Given the description of an element on the screen output the (x, y) to click on. 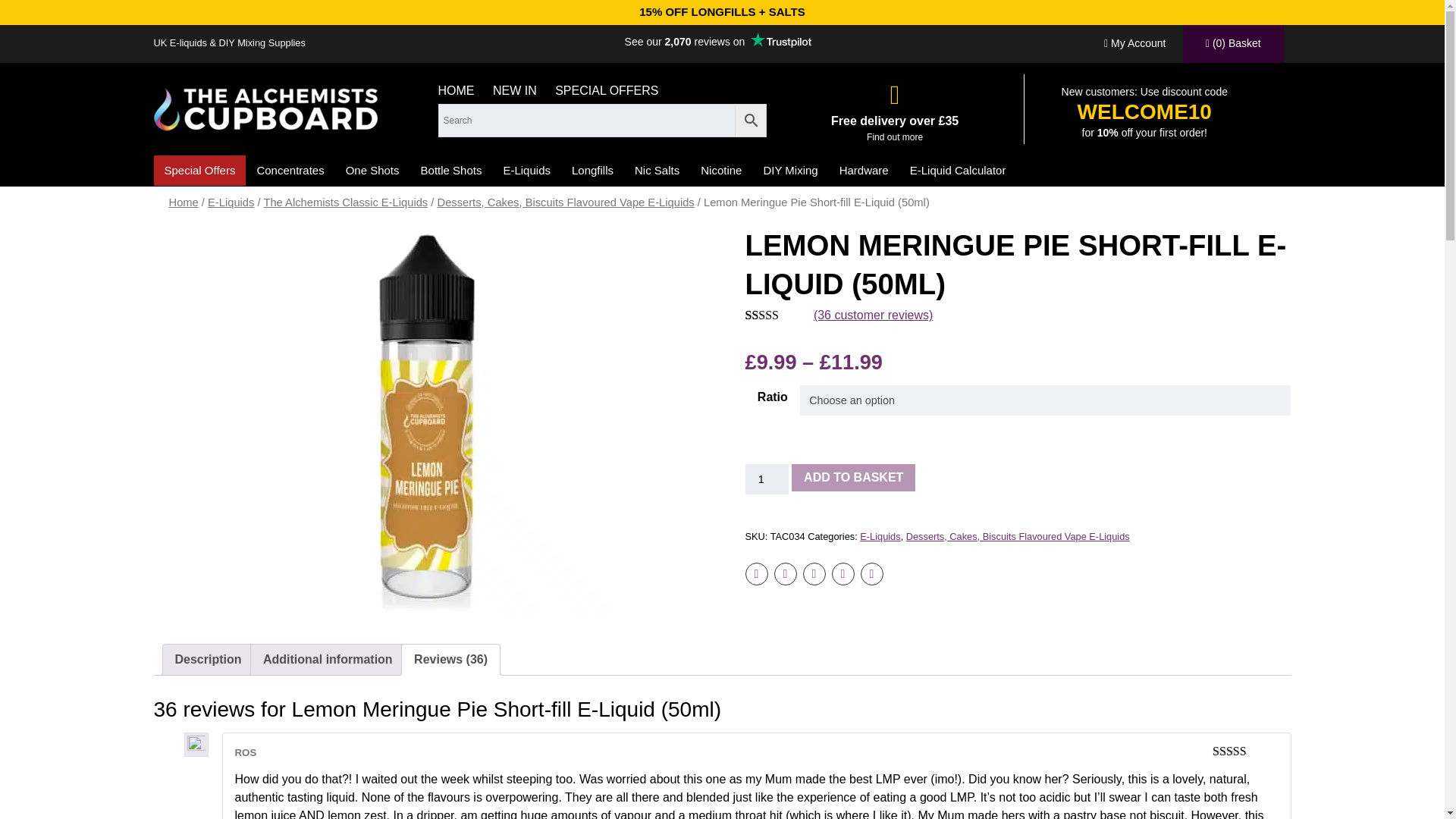
My Account (1134, 43)
Special Offers (199, 170)
HOME (456, 89)
NEW IN (515, 89)
Basket (1232, 43)
Login (1134, 43)
1 (766, 479)
One Shots (372, 169)
Customer reviews powered by Trustpilot (718, 40)
SPECIAL OFFERS (606, 89)
Concentrates (290, 169)
